Given the description of an element on the screen output the (x, y) to click on. 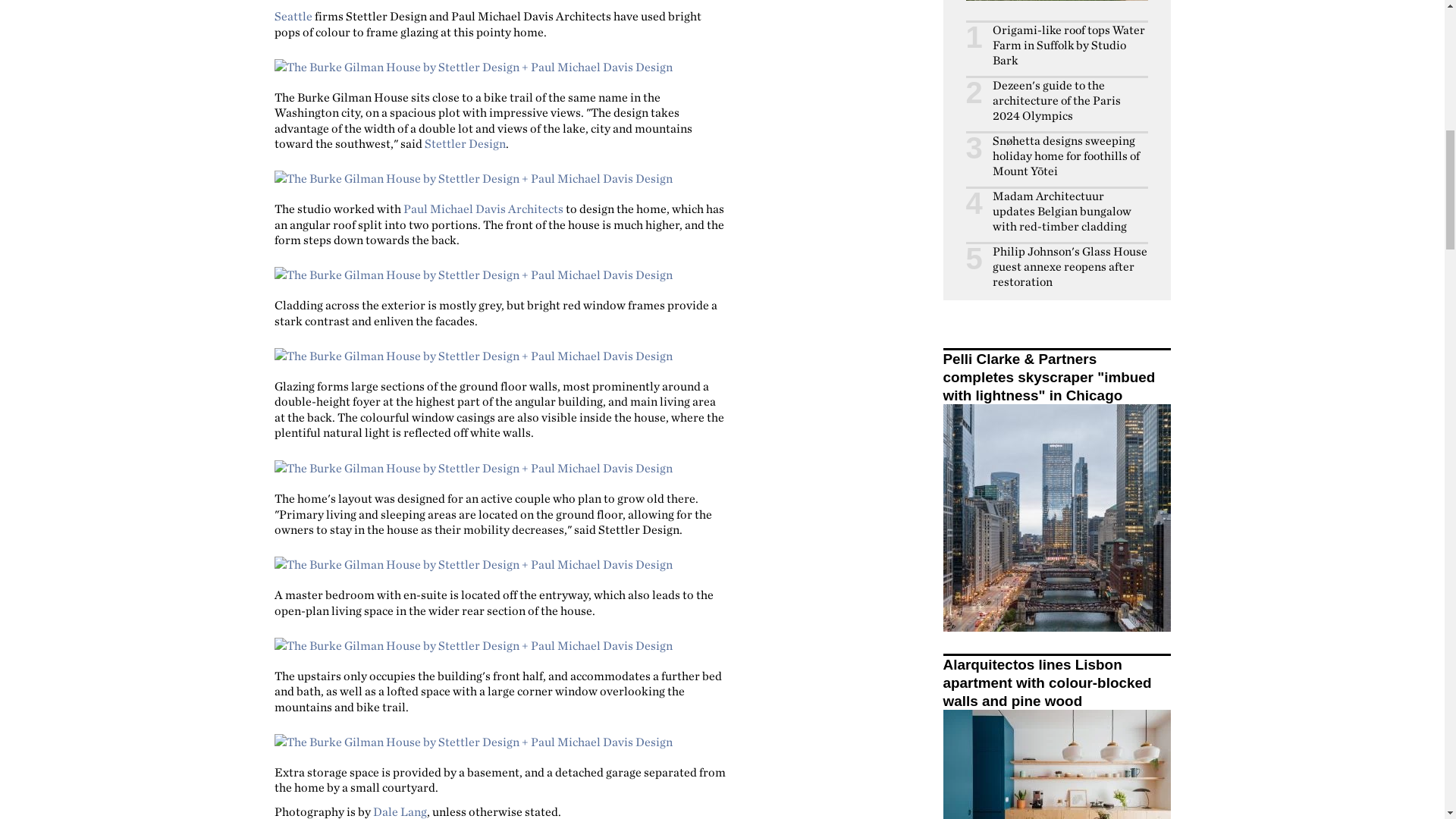
3rd party ad content (597, 542)
